Given the description of an element on the screen output the (x, y) to click on. 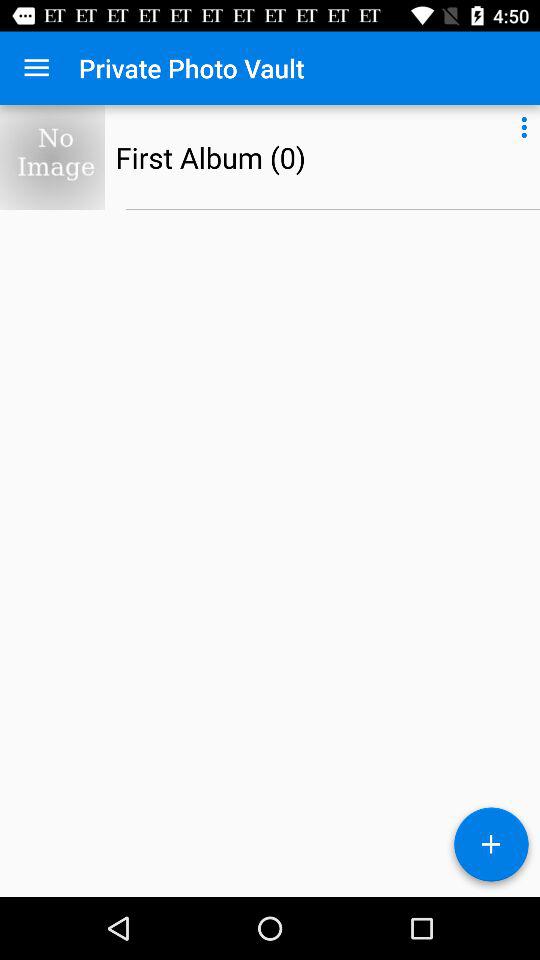
tap app next to private photo vault icon (36, 68)
